Given the description of an element on the screen output the (x, y) to click on. 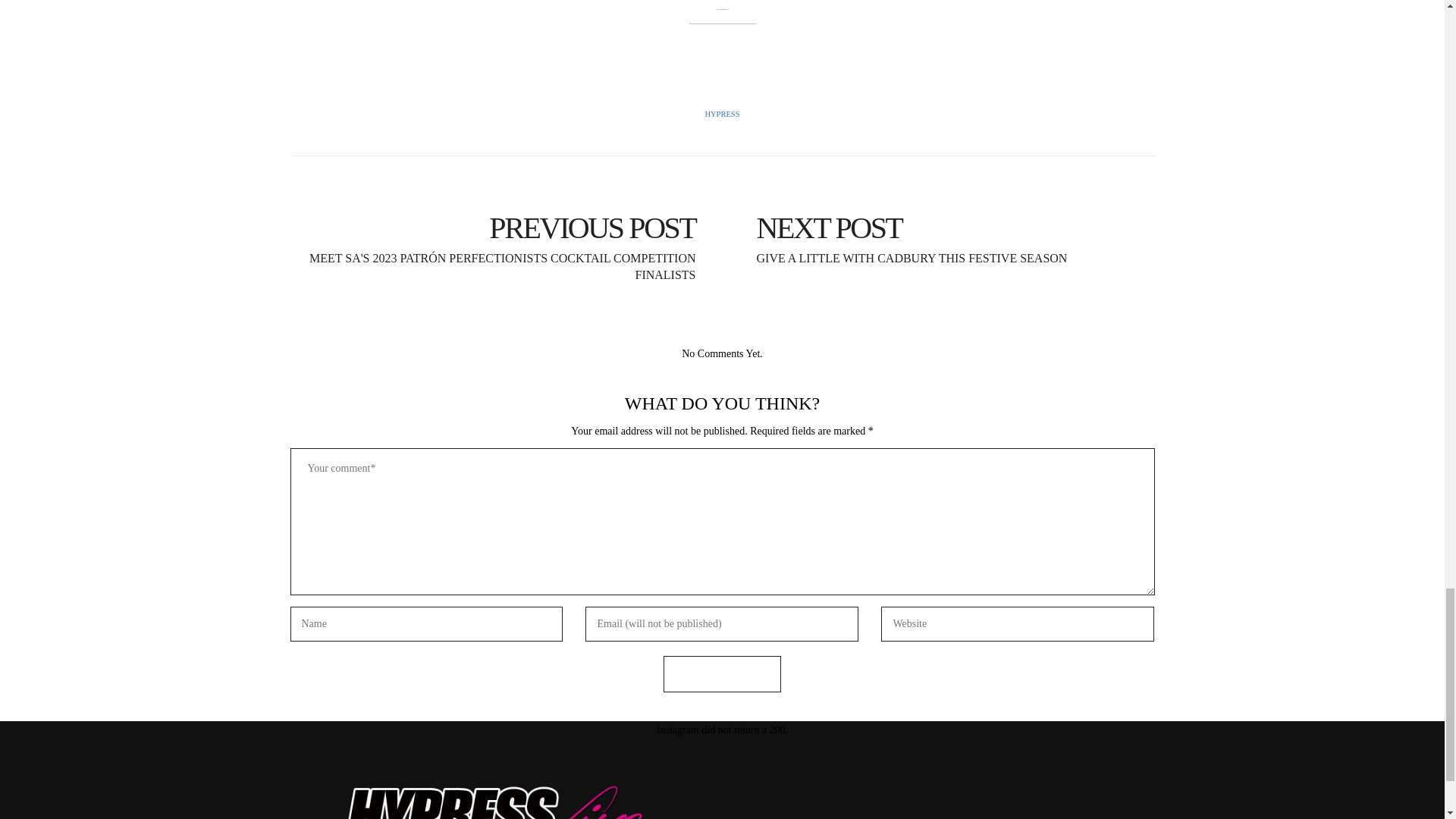
Post comment (721, 674)
Post comment (721, 674)
Lifestyle and Culture Destination (499, 798)
HYPRESS (721, 113)
Posts by hypress (721, 113)
GIVE A LITTLE WITH CADBURY THIS FESTIVE SEASON (943, 227)
